Given the description of an element on the screen output the (x, y) to click on. 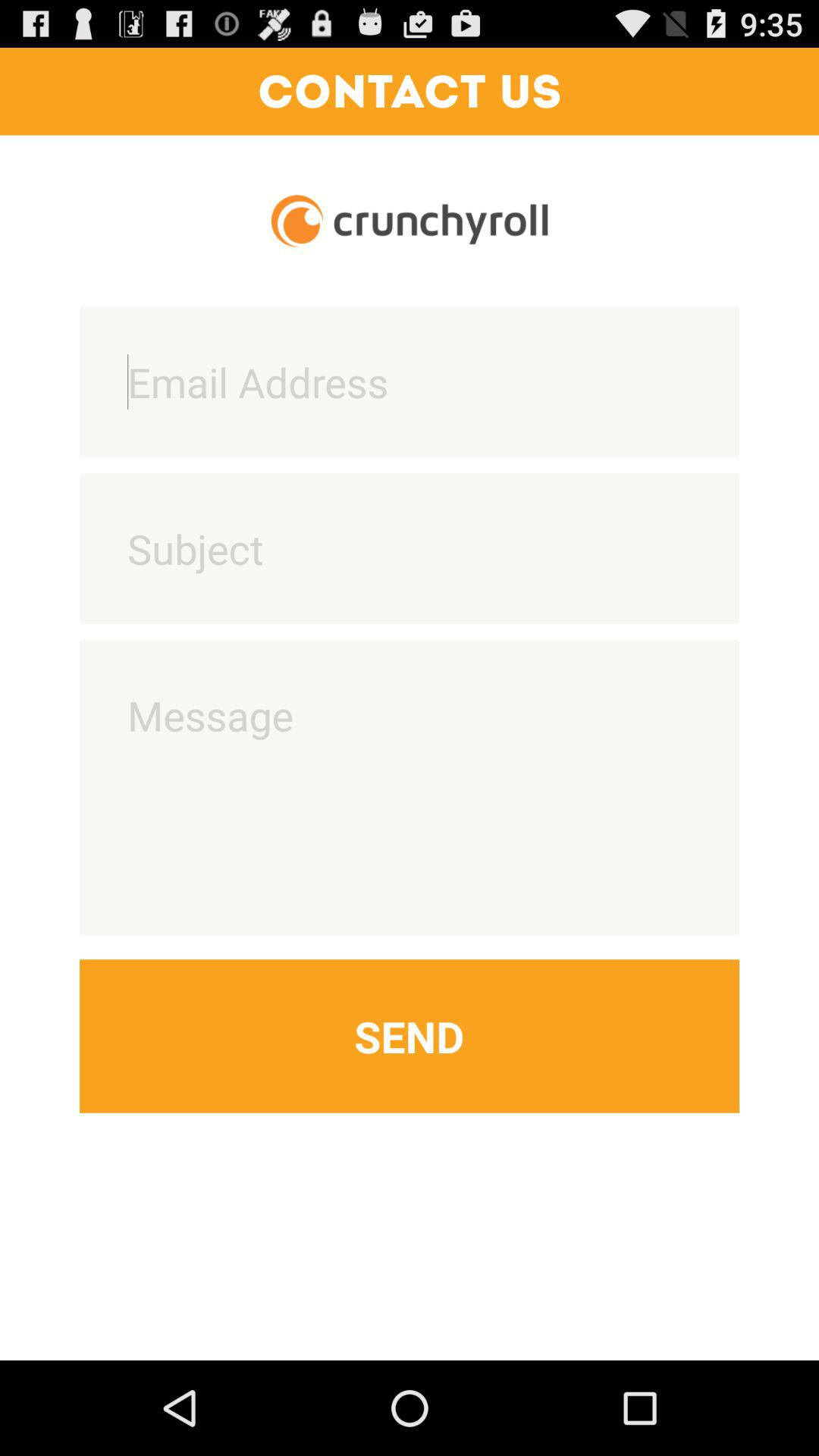
subject text entry box (409, 548)
